Given the description of an element on the screen output the (x, y) to click on. 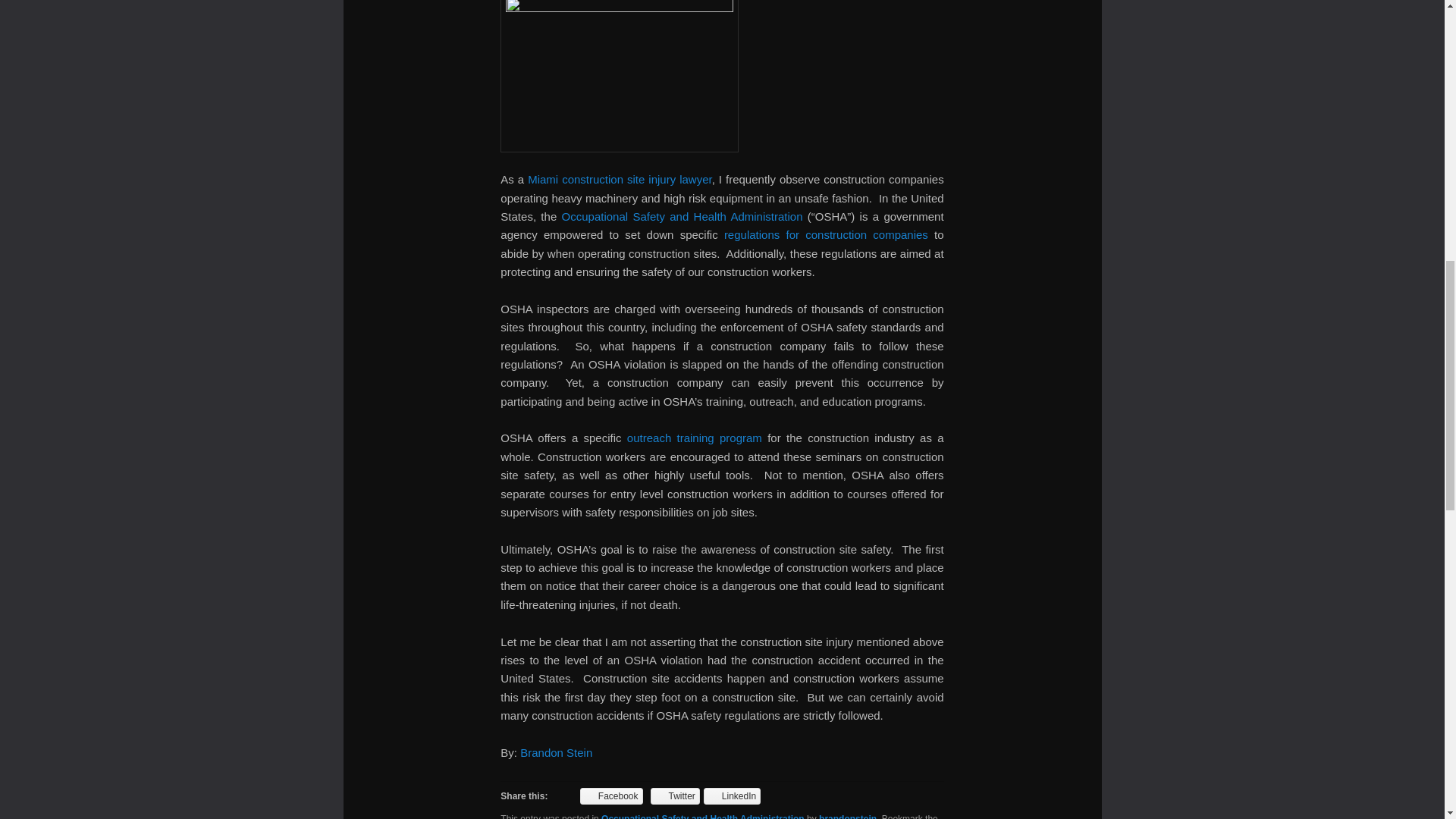
Occupational Safety and Health Administration (703, 816)
Facebook (611, 795)
Miami construction site injury lawyer (619, 178)
Brandon Stein (555, 752)
Click to share on Twitter (675, 795)
Click to share on LinkedIn (731, 795)
Share on Facebook (611, 795)
Occupational Safety and Health Administration (682, 215)
Twitter (675, 795)
